Given the description of an element on the screen output the (x, y) to click on. 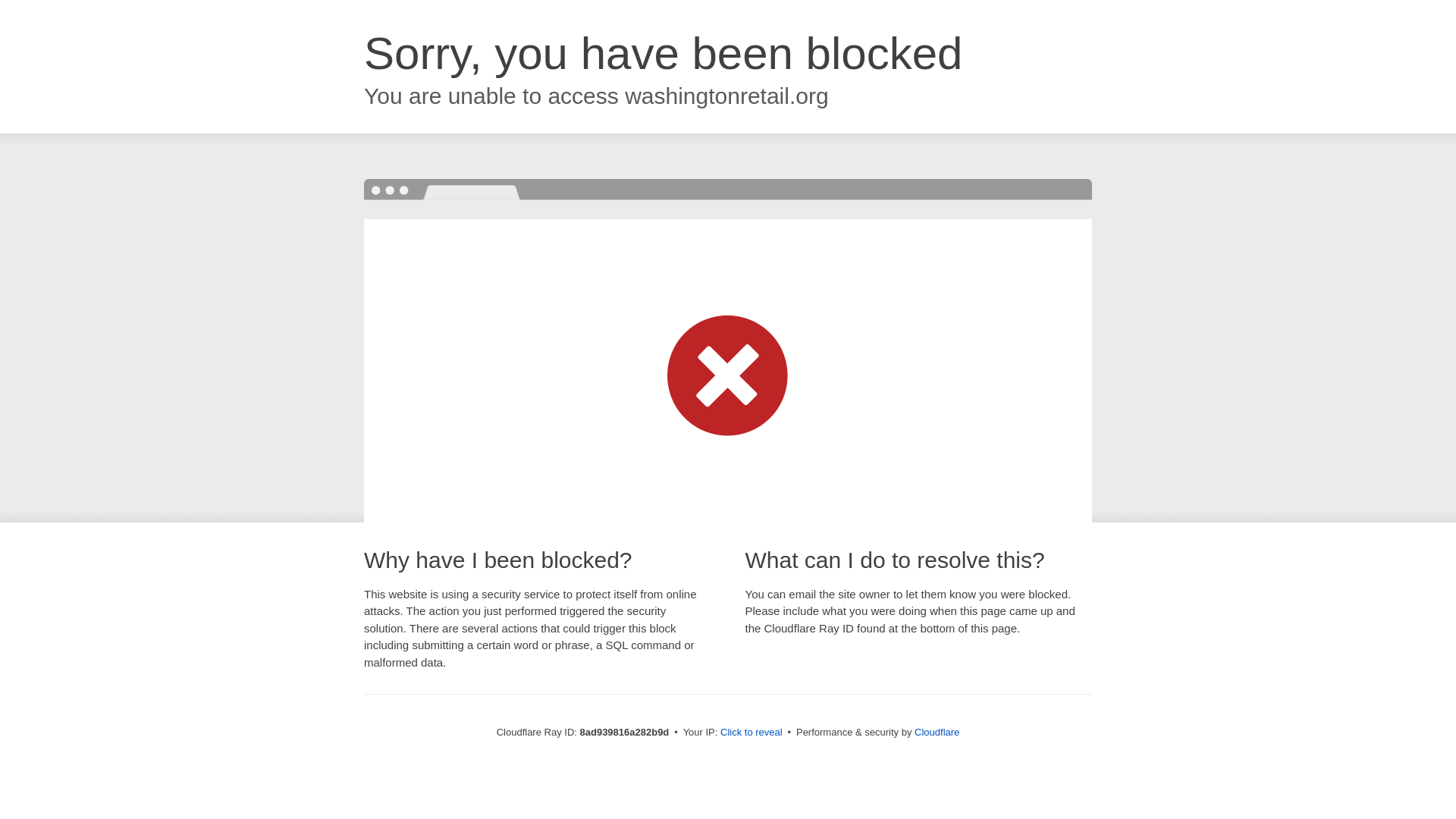
Cloudflare (936, 731)
Click to reveal (751, 732)
